Given the description of an element on the screen output the (x, y) to click on. 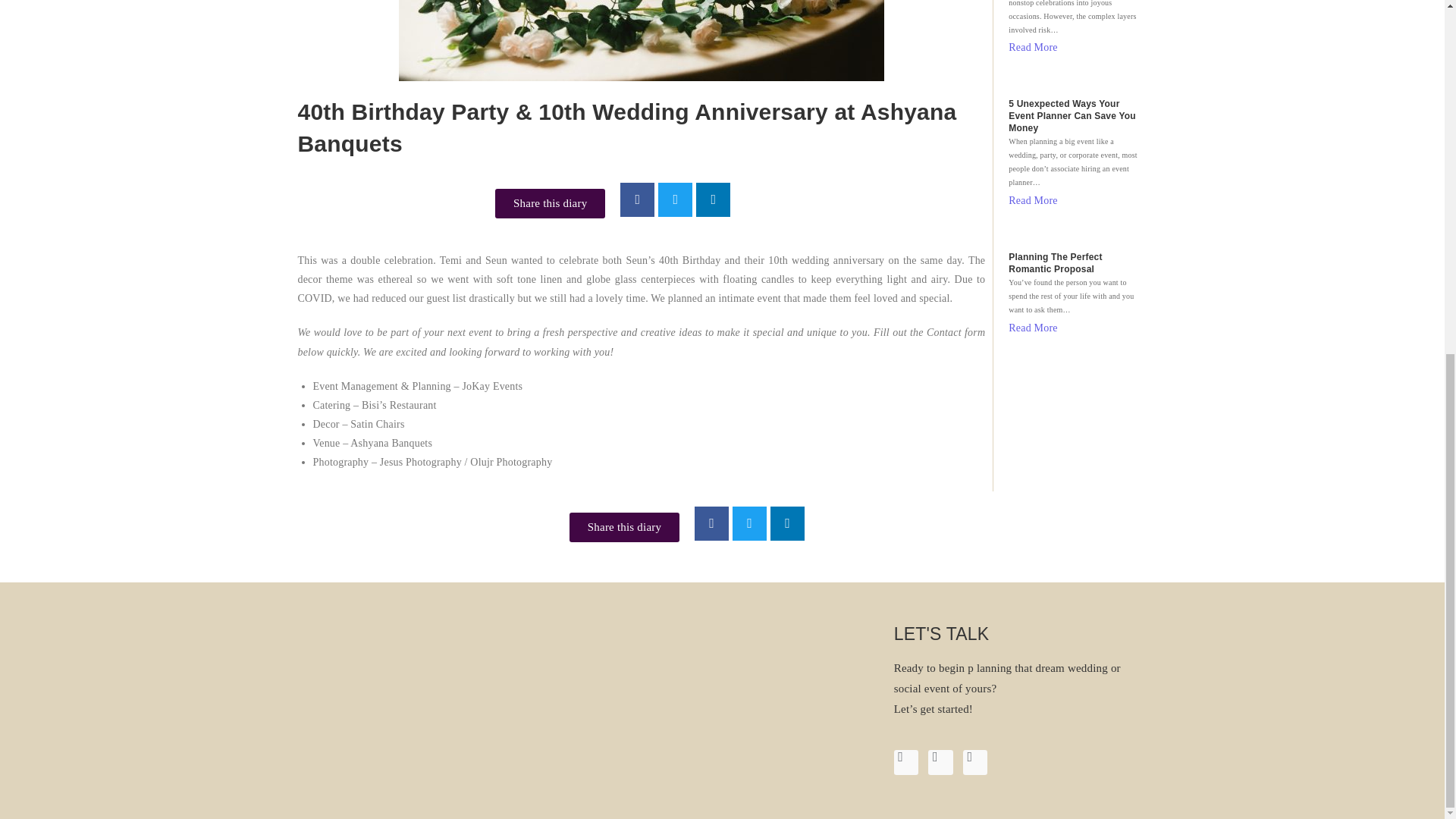
Read More (1033, 199)
Share this diary (550, 203)
Share this diary (624, 527)
Planning The Perfect Romantic Proposal (1073, 262)
5 Unexpected Ways Your Event Planner Can Save You Money (1073, 115)
Read More (1033, 327)
Read More (1033, 46)
